Given the description of an element on the screen output the (x, y) to click on. 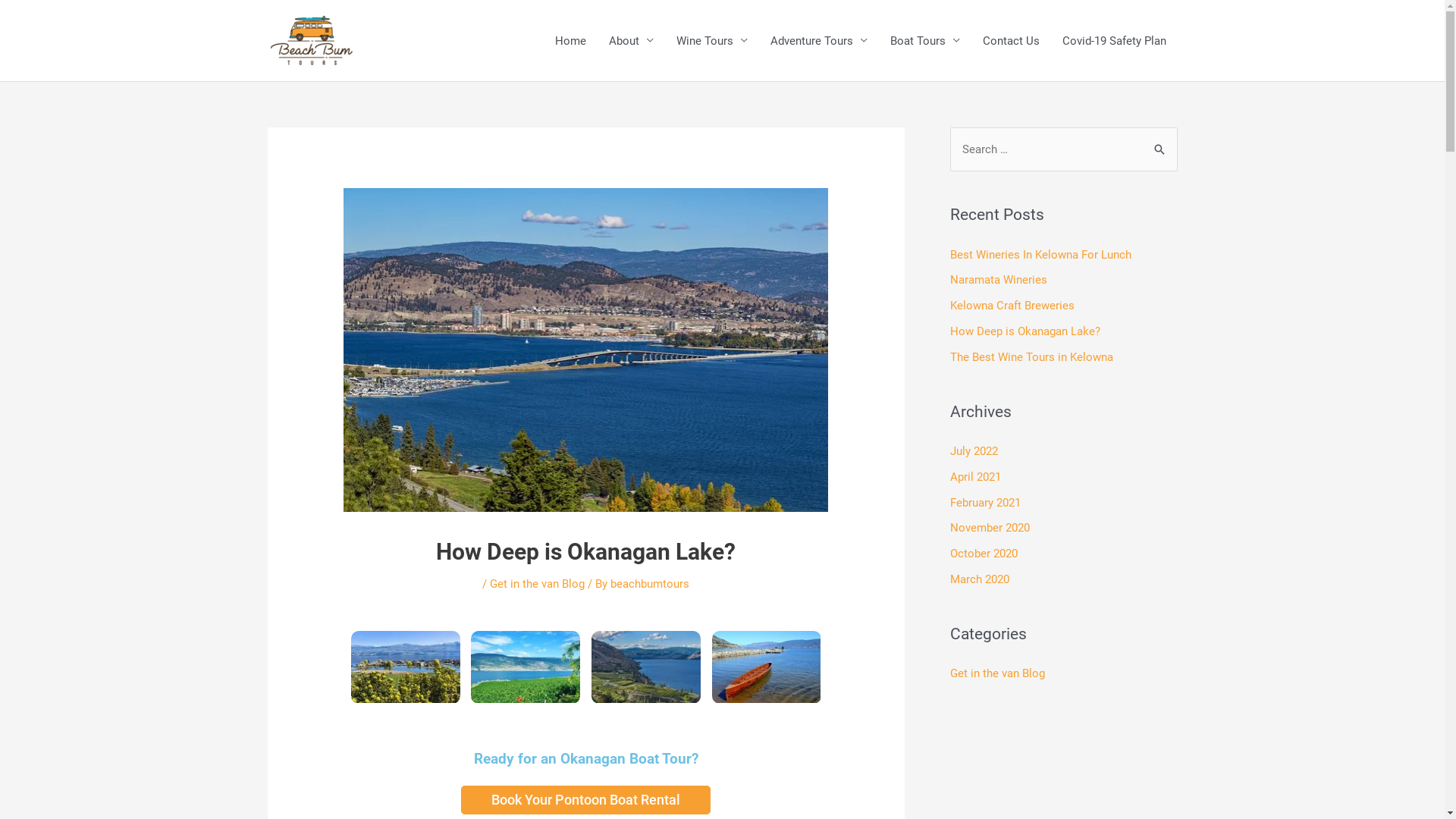
April 2021 Element type: text (974, 476)
beachbumtours Element type: text (649, 583)
Boat Tours Element type: text (924, 40)
November 2020 Element type: text (989, 527)
The Best Wine Tours in Kelowna Element type: text (1030, 357)
October 2020 Element type: text (982, 553)
Naramata Wineries Element type: text (997, 279)
March 2020 Element type: text (978, 579)
Search Element type: text (1160, 142)
July 2022 Element type: text (973, 451)
Best Wineries In Kelowna For Lunch Element type: text (1039, 253)
Wine Tours Element type: text (711, 40)
Home Element type: text (569, 40)
How Deep is Okanagan Lake? Element type: text (1024, 331)
Book Your Pontoon Boat Rental Element type: text (585, 799)
Get in the van Blog Element type: text (996, 673)
Get in the van Blog Element type: text (536, 583)
Kelowna Craft Breweries Element type: text (1011, 305)
Adventure Tours Element type: text (818, 40)
February 2021 Element type: text (984, 502)
About Element type: text (631, 40)
Covid-19 Safety Plan Element type: text (1114, 40)
Contact Us Element type: text (1010, 40)
